Given the description of an element on the screen output the (x, y) to click on. 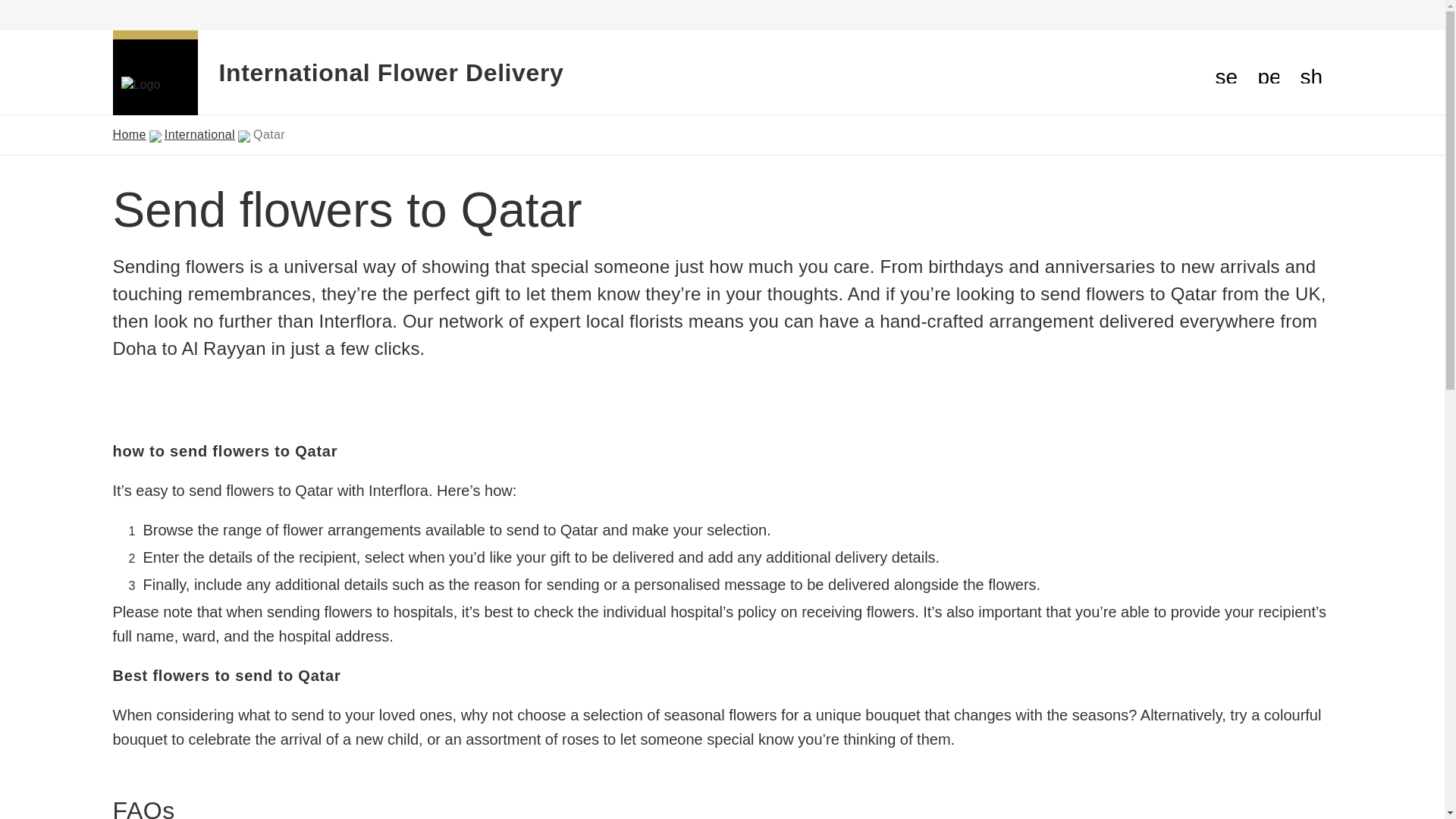
Home (128, 134)
search (1225, 72)
International (199, 134)
